Given the description of an element on the screen output the (x, y) to click on. 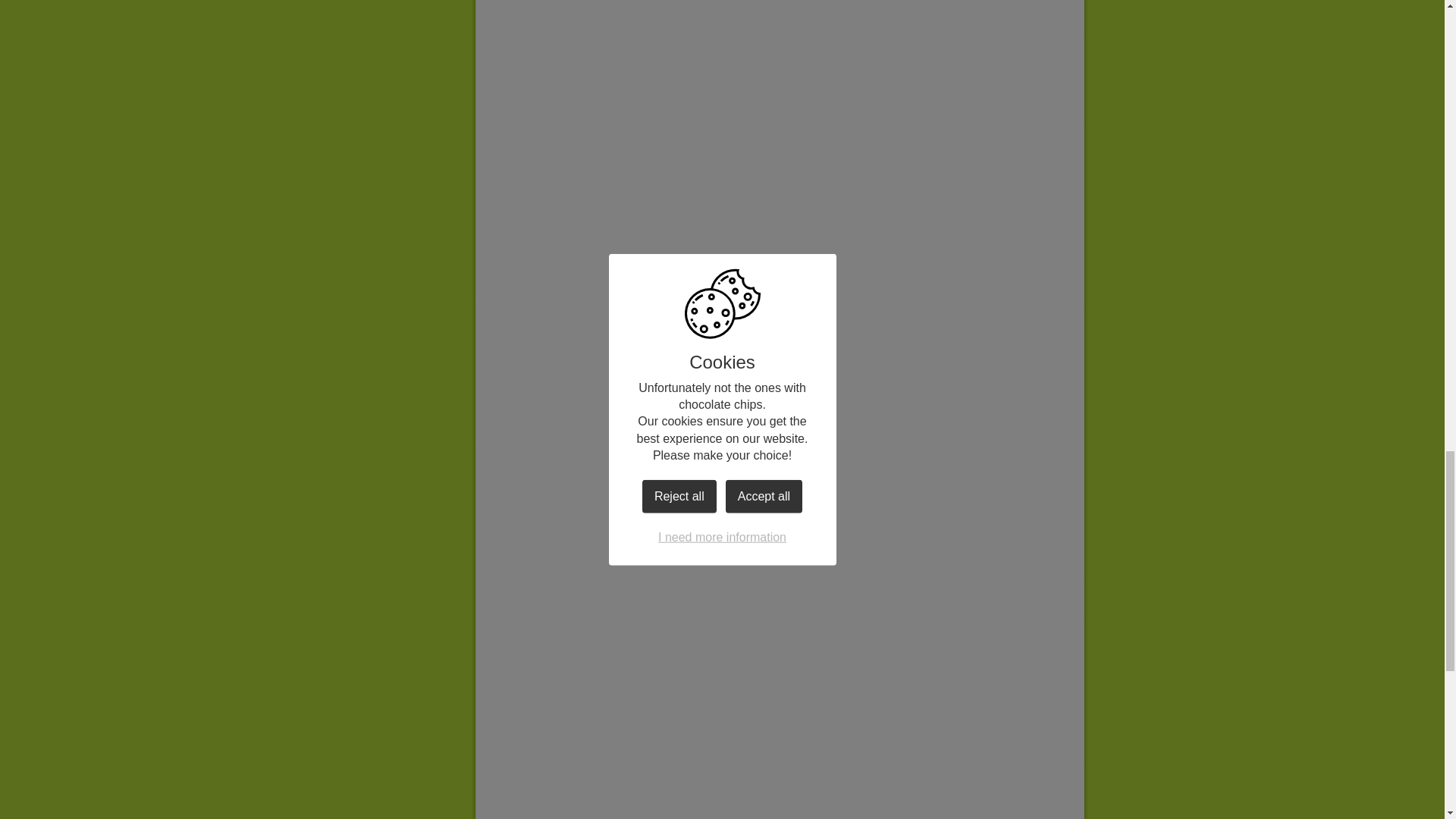
View large version of image (636, 123)
View large version of image (920, 557)
View large version of image (636, 340)
View large version of image (920, 746)
View large version of image (636, 3)
View large version of image (920, 123)
View large version of image (920, 3)
View large version of image (920, 340)
View large version of image (636, 557)
View large version of image (636, 746)
